Given the description of an element on the screen output the (x, y) to click on. 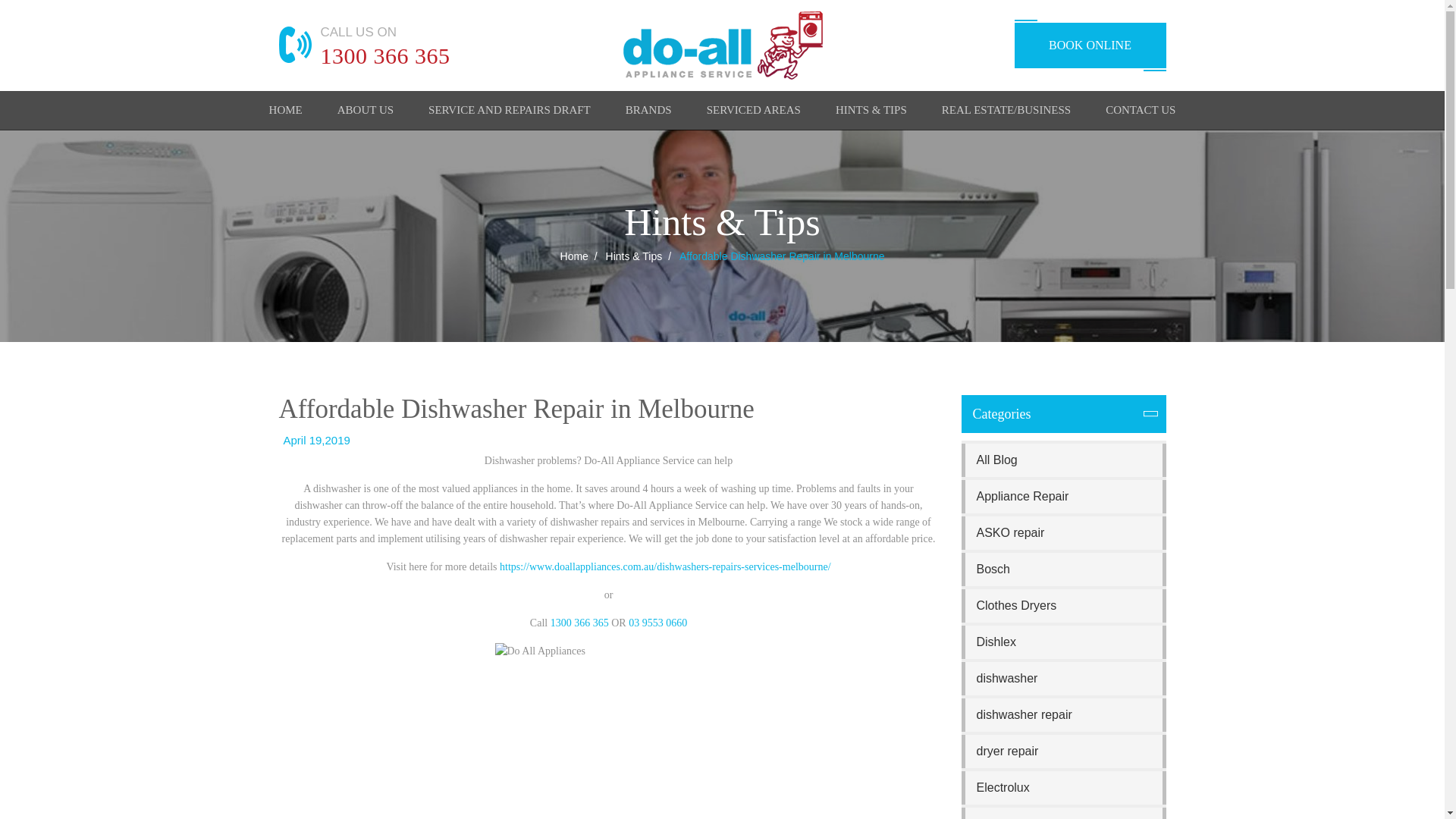
dishwasher (1063, 678)
Bosch (1063, 569)
Book Online (1090, 44)
dishwasher repair (1063, 715)
ASKO repair (1063, 532)
Home (285, 112)
BOOK ONLINE (1090, 44)
Serviced Areas (753, 112)
HOME (285, 112)
Contact Us (1139, 112)
1300 366 365 (384, 55)
SERVICED AREAS (753, 112)
BRANDS (648, 112)
1300 366 365 (384, 55)
Categories (1063, 413)
